Given the description of an element on the screen output the (x, y) to click on. 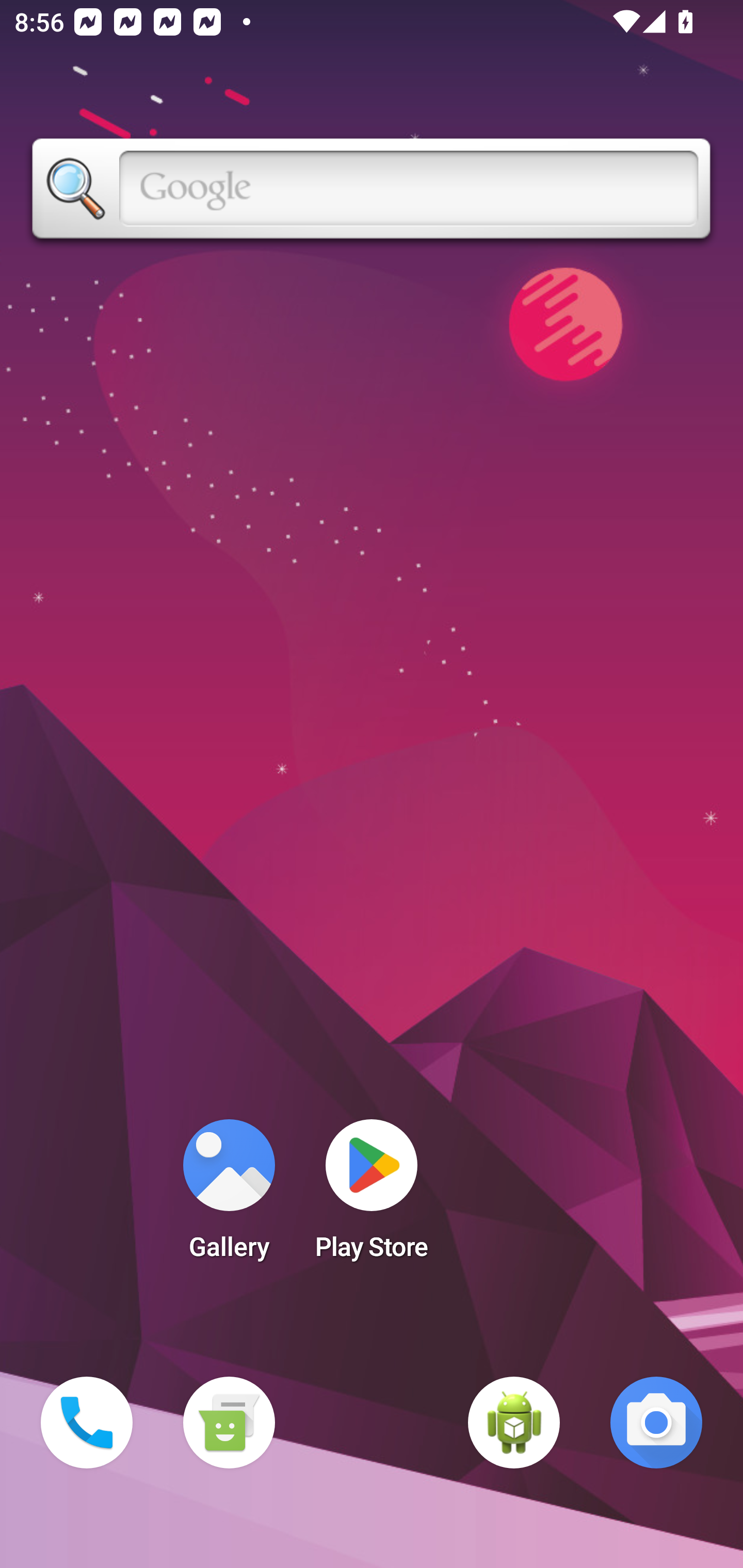
Gallery (228, 1195)
Play Store (371, 1195)
Phone (86, 1422)
Messaging (228, 1422)
WebView Browser Tester (513, 1422)
Camera (656, 1422)
